Given the description of an element on the screen output the (x, y) to click on. 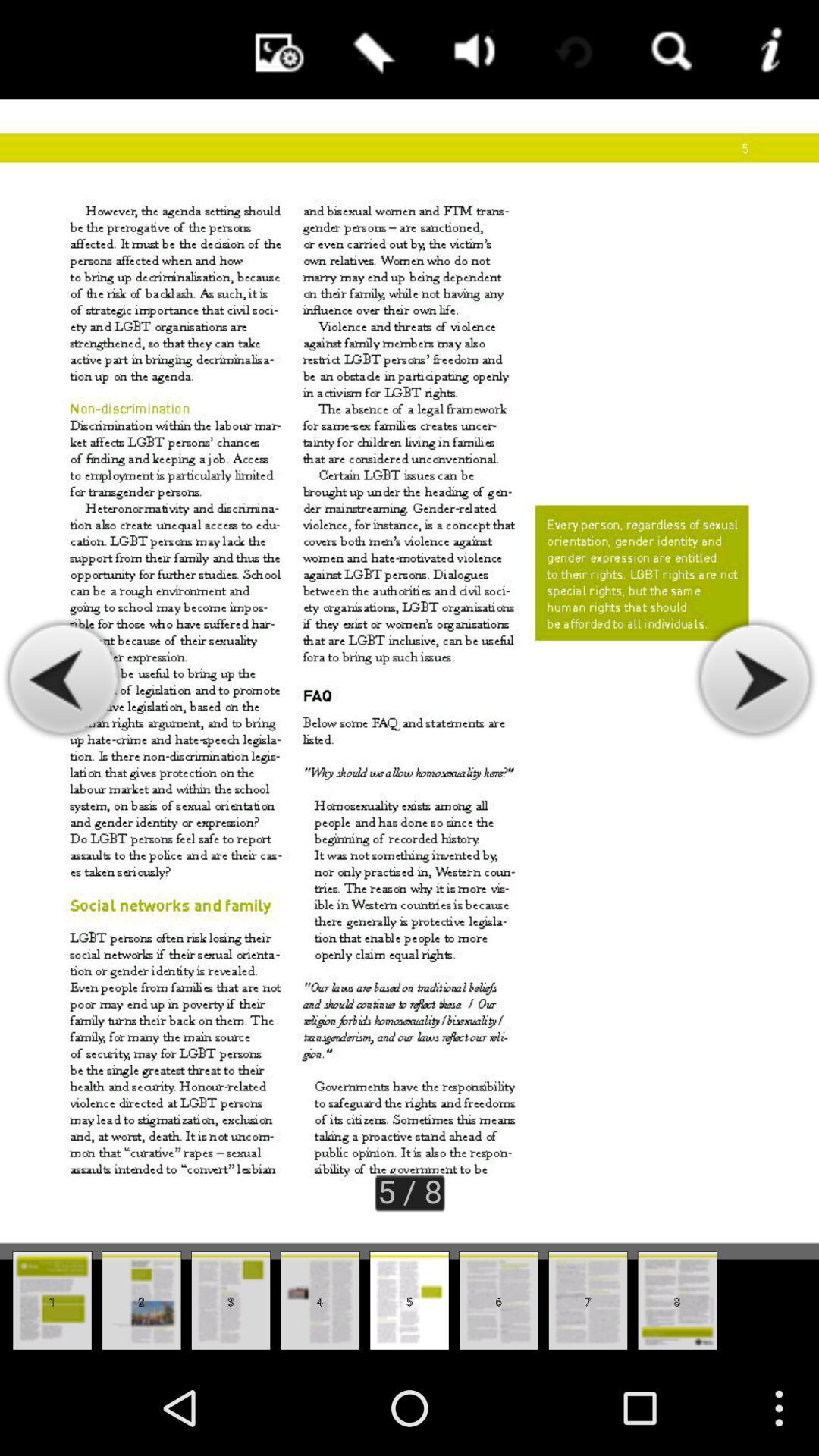
audiobook play icon (470, 49)
